Given the description of an element on the screen output the (x, y) to click on. 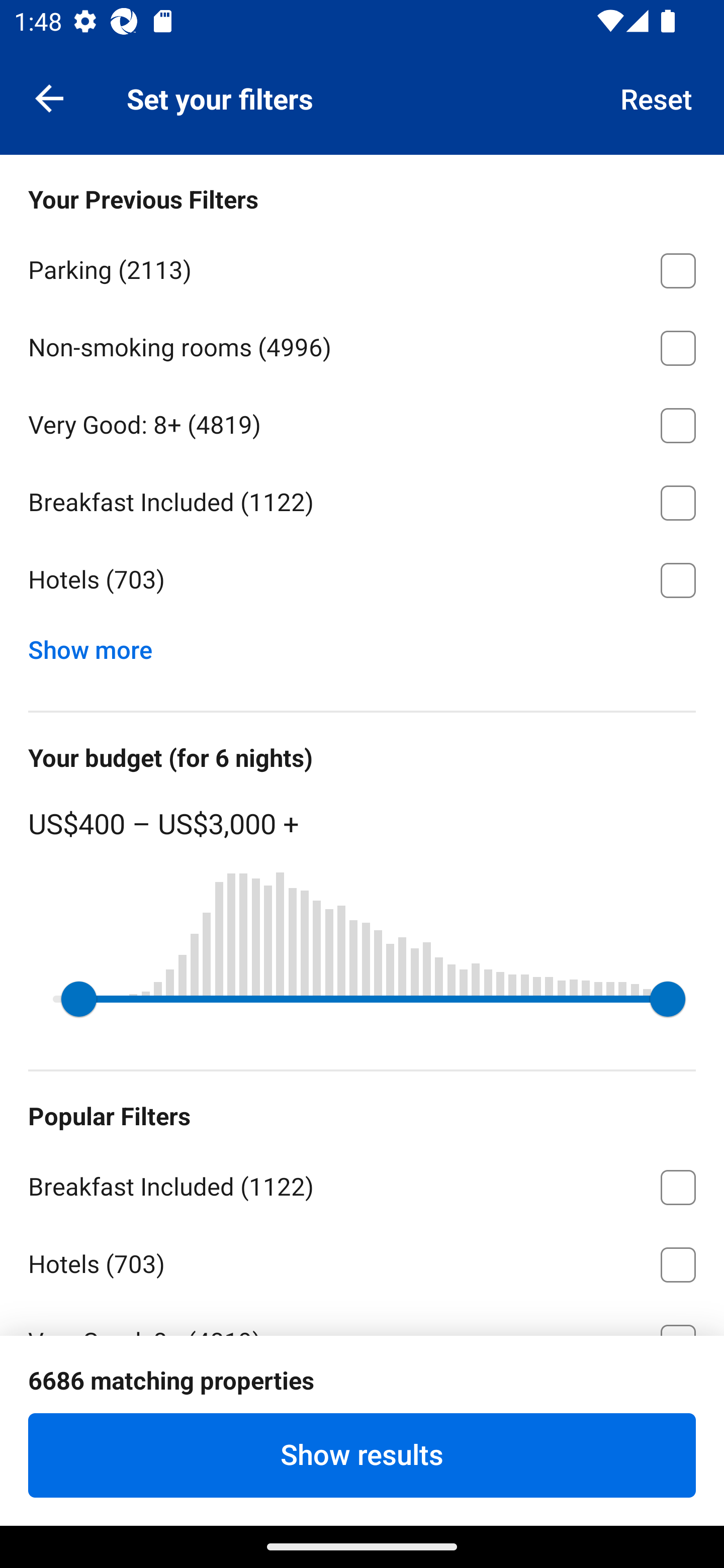
Navigate up (49, 97)
Reset (656, 97)
Parking ⁦(2113) (361, 266)
Non-smoking rooms ⁦(4996) (361, 344)
Very Good: 8+ ⁦(4819) (361, 422)
Breakfast Included ⁦(1122) (361, 498)
Hotels ⁦(703) (361, 579)
Show more (97, 645)
Breakfast Included ⁦(1122) (361, 1183)
Hotels ⁦(703) (361, 1261)
Show results (361, 1454)
